Given the description of an element on the screen output the (x, y) to click on. 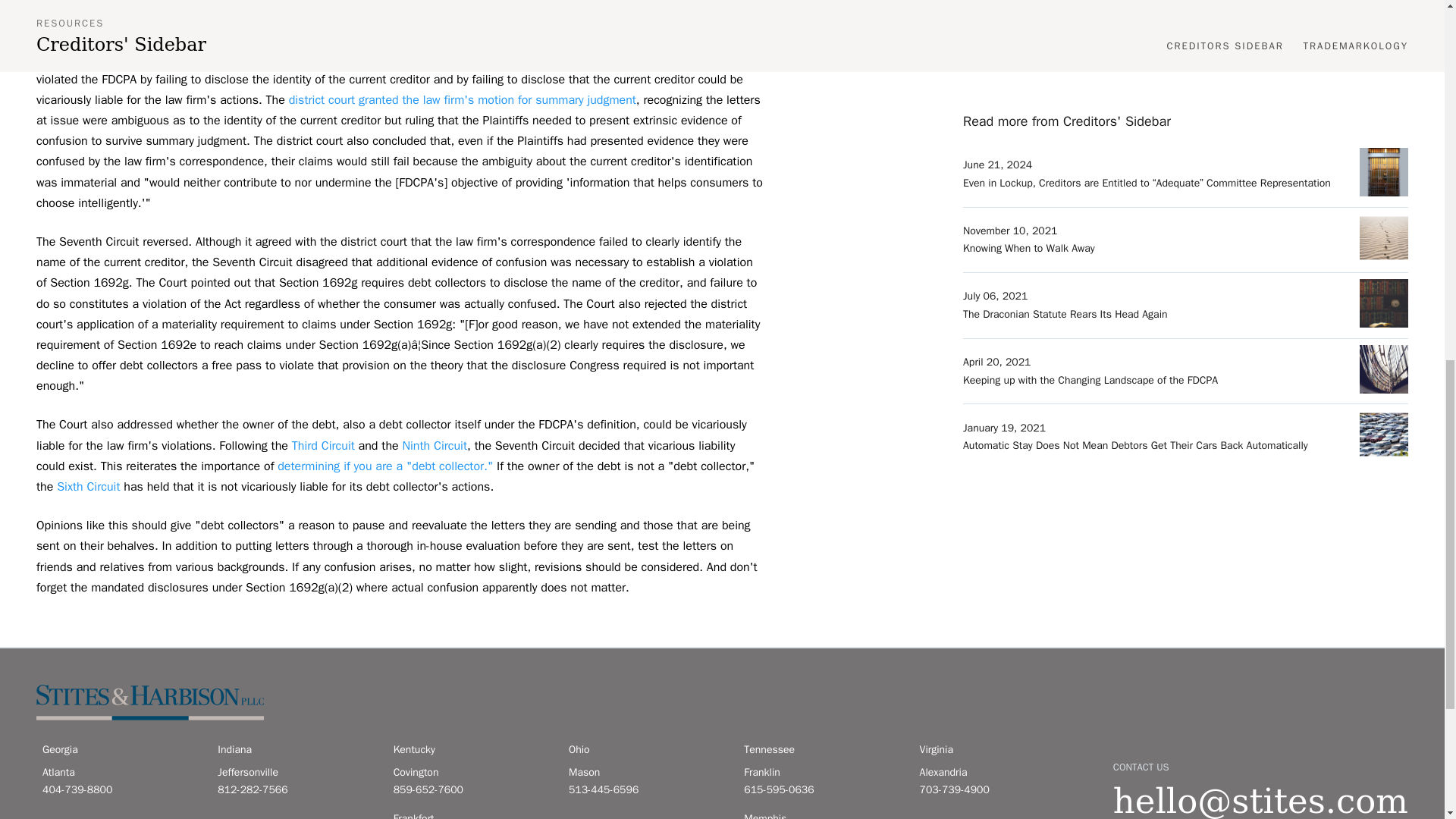
Covington (471, 772)
859-652-7600 (471, 790)
Section 1692g of the FDCPA (490, 17)
404-739-8800 (120, 790)
Mason (647, 772)
Frankfort (471, 814)
812-282-7566 (295, 790)
Third Circuit (323, 445)
Ninth Circuit (434, 445)
